Given the description of an element on the screen output the (x, y) to click on. 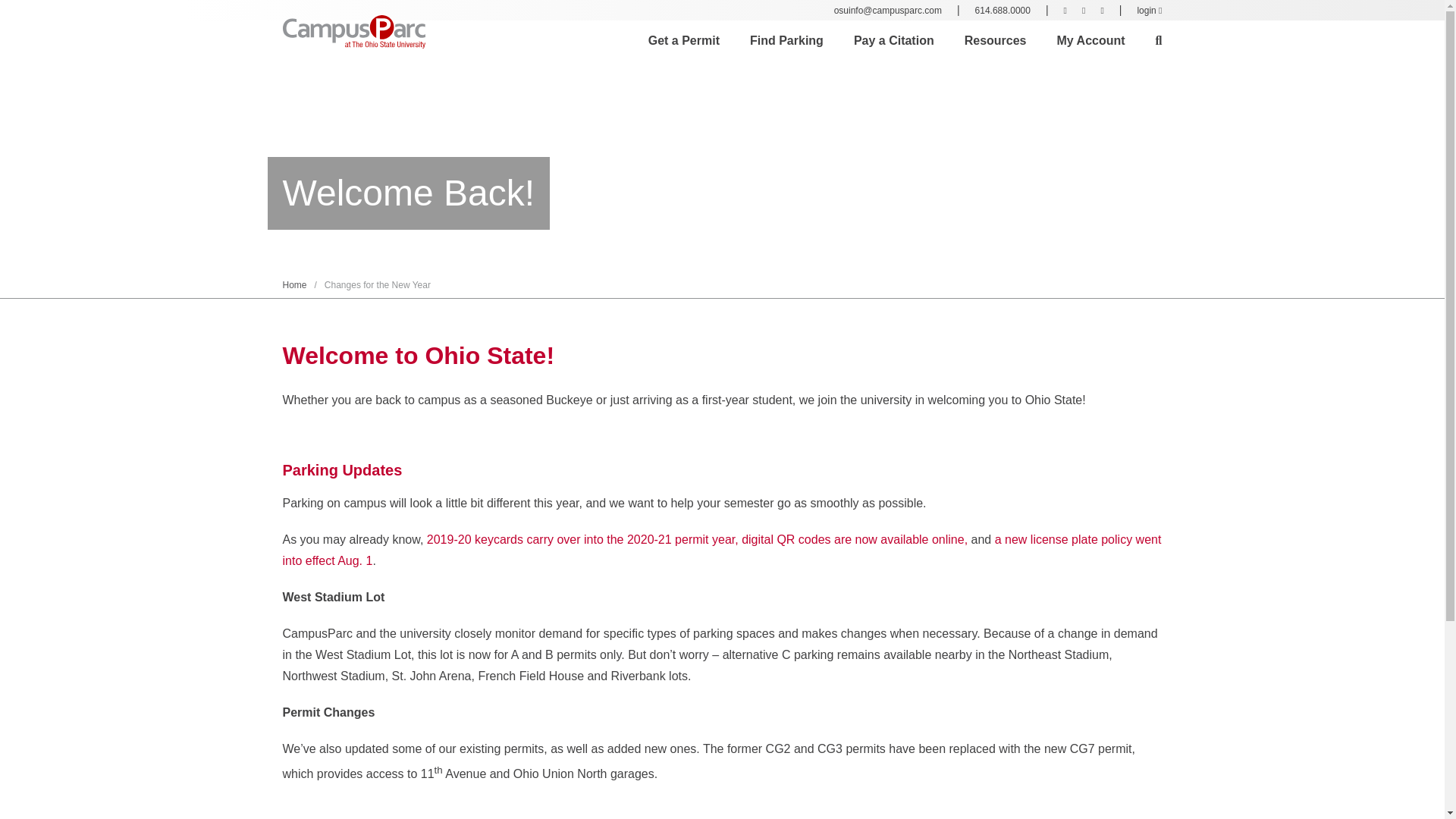
614.688.0000 (1002, 9)
Pay a Citation (893, 41)
login (1149, 9)
Resources (994, 41)
Find Parking (786, 41)
Get a Permit (683, 41)
